Given the description of an element on the screen output the (x, y) to click on. 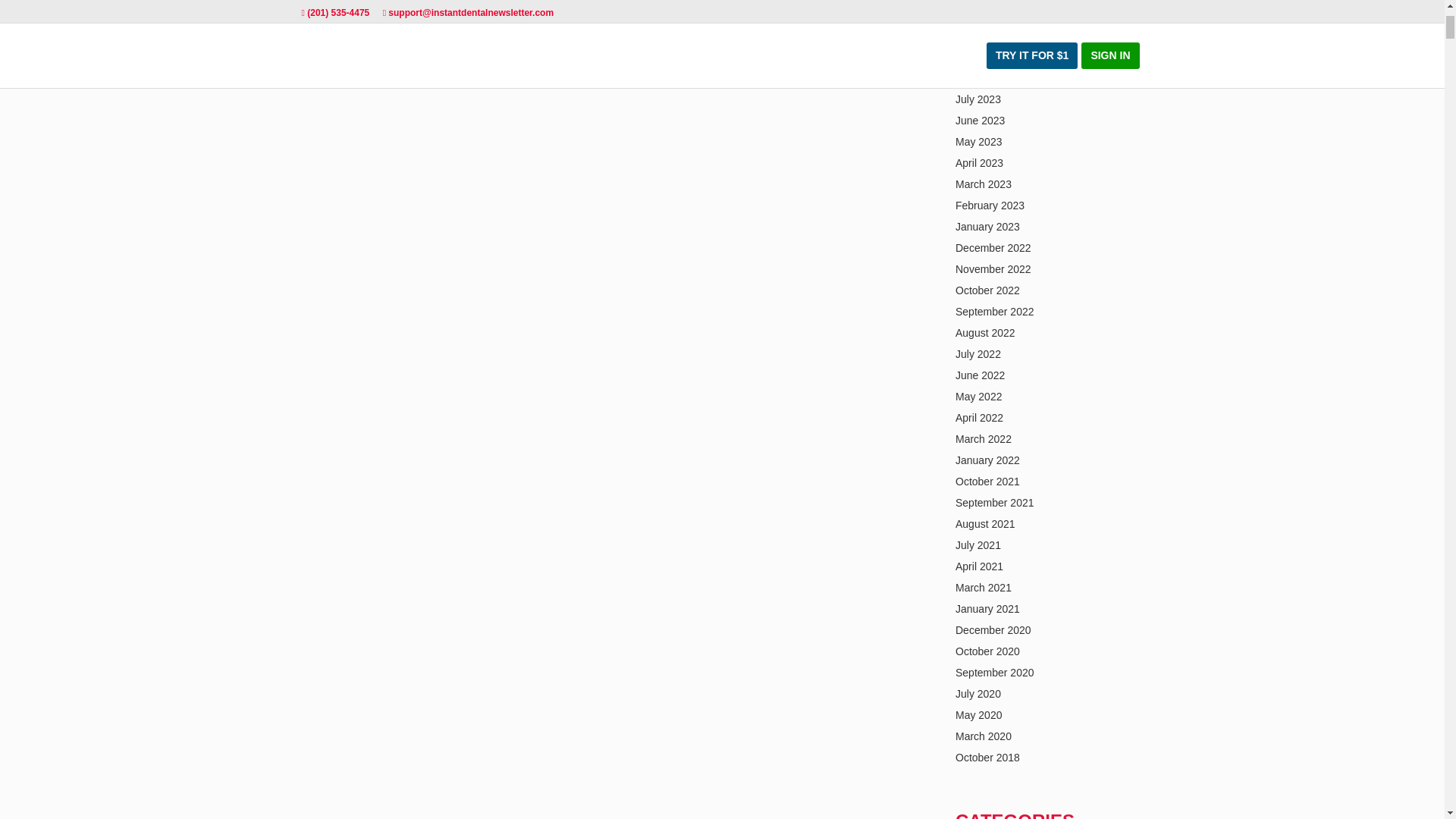
October 2023 (987, 35)
November 2023 (992, 14)
June 2023 (979, 120)
September 2023 (994, 56)
August 2023 (984, 78)
May 2023 (978, 141)
July 2023 (978, 99)
Electronic Pokies Secrets (361, 15)
